Given the description of an element on the screen output the (x, y) to click on. 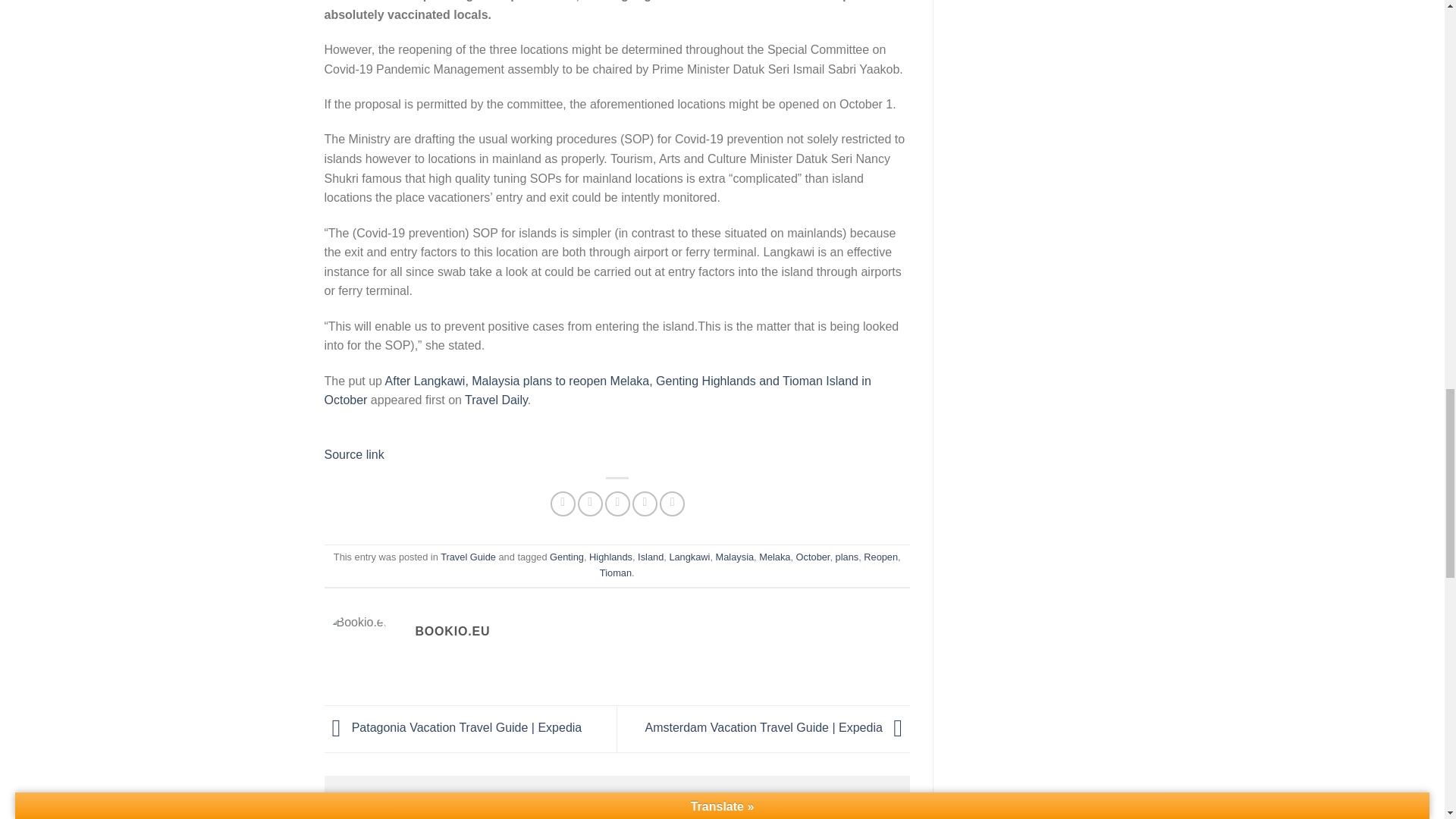
Pin on Pinterest (644, 503)
Genting (566, 556)
Source link (354, 454)
Travel Daily (495, 399)
Share on Twitter (590, 503)
Share on Facebook (562, 503)
Travel Guide (468, 556)
Email to a Friend (617, 503)
Share on LinkedIn (671, 503)
